Given the description of an element on the screen output the (x, y) to click on. 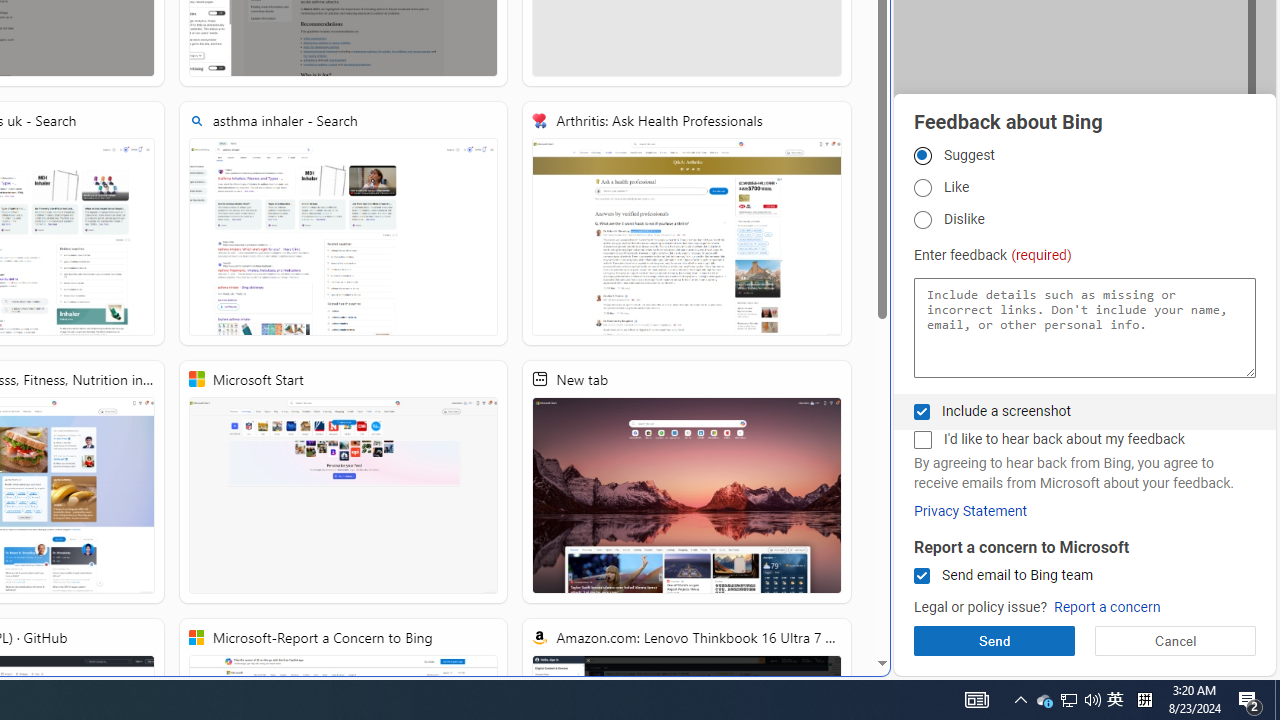
Send email to Bing team (921, 575)
Send (994, 640)
Arthritis: Ask Health Professionals (687, 223)
Suggest (922, 155)
Like (922, 188)
Privacy Statement (970, 511)
asthma inhaler - Search (343, 223)
I'd like to hear back about my feedback (922, 440)
Report a concern (1106, 607)
Cancel (1174, 640)
